Given the description of an element on the screen output the (x, y) to click on. 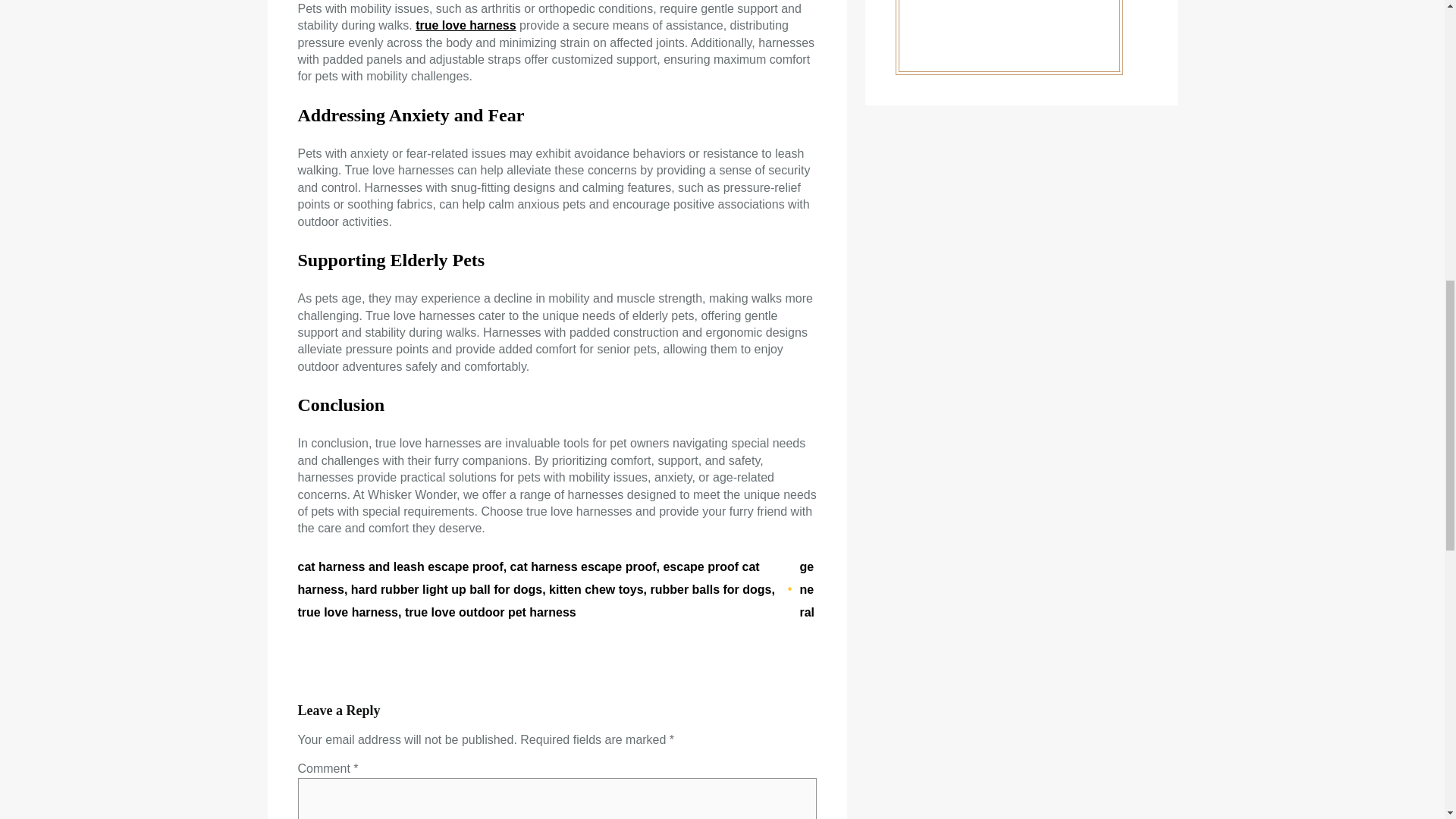
hard rubber light up ball for dogs (445, 589)
escape proof cat harness (527, 578)
rubber balls for dogs (710, 589)
kitten chew toys (595, 589)
true love harness (465, 24)
cat harness escape proof (583, 566)
true love outdoor pet harness (490, 612)
true love harness (347, 612)
cat harness and leash escape proof (399, 566)
